Given the description of an element on the screen output the (x, y) to click on. 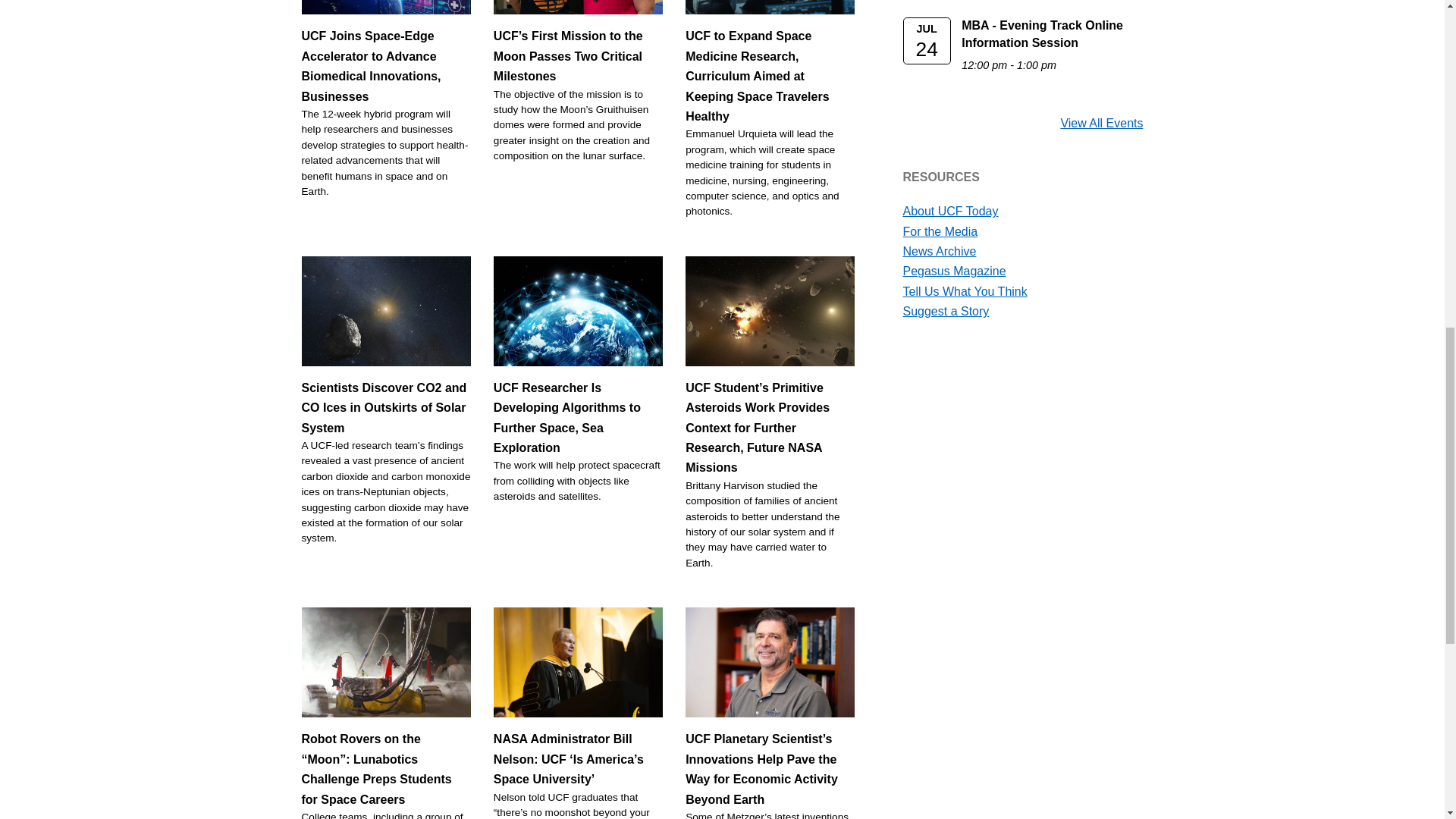
Tell Us What You Think (964, 291)
View All Events (1100, 123)
News Archive (938, 250)
Suggest a Story (945, 310)
Pegasus Magazine (954, 270)
For the Media (939, 231)
About UCF Today (949, 210)
